Given the description of an element on the screen output the (x, y) to click on. 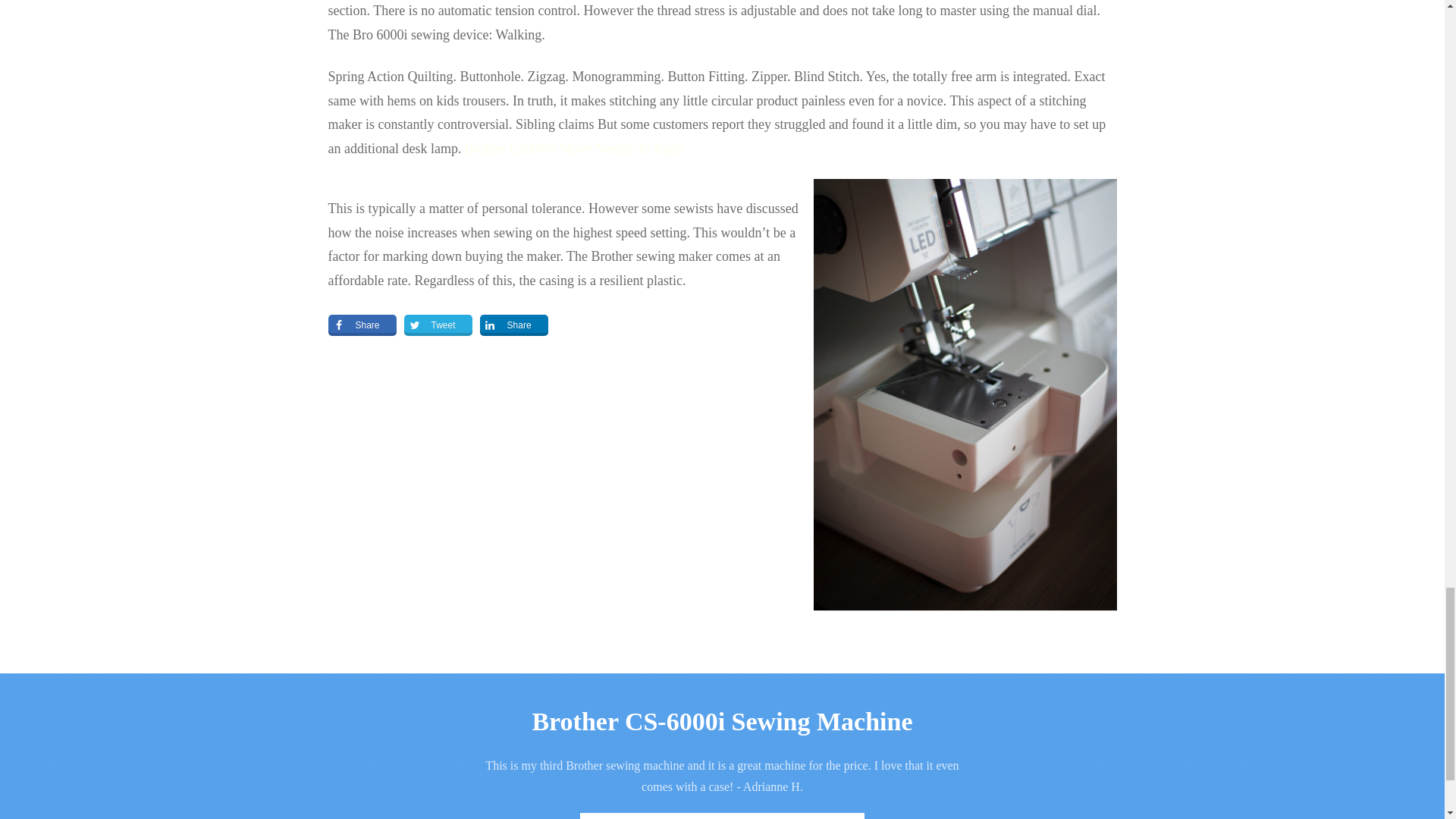
Share (514, 324)
Click Here for Price Match Guarantee (721, 816)
Share (361, 324)
Tweet (437, 324)
